Given the description of an element on the screen output the (x, y) to click on. 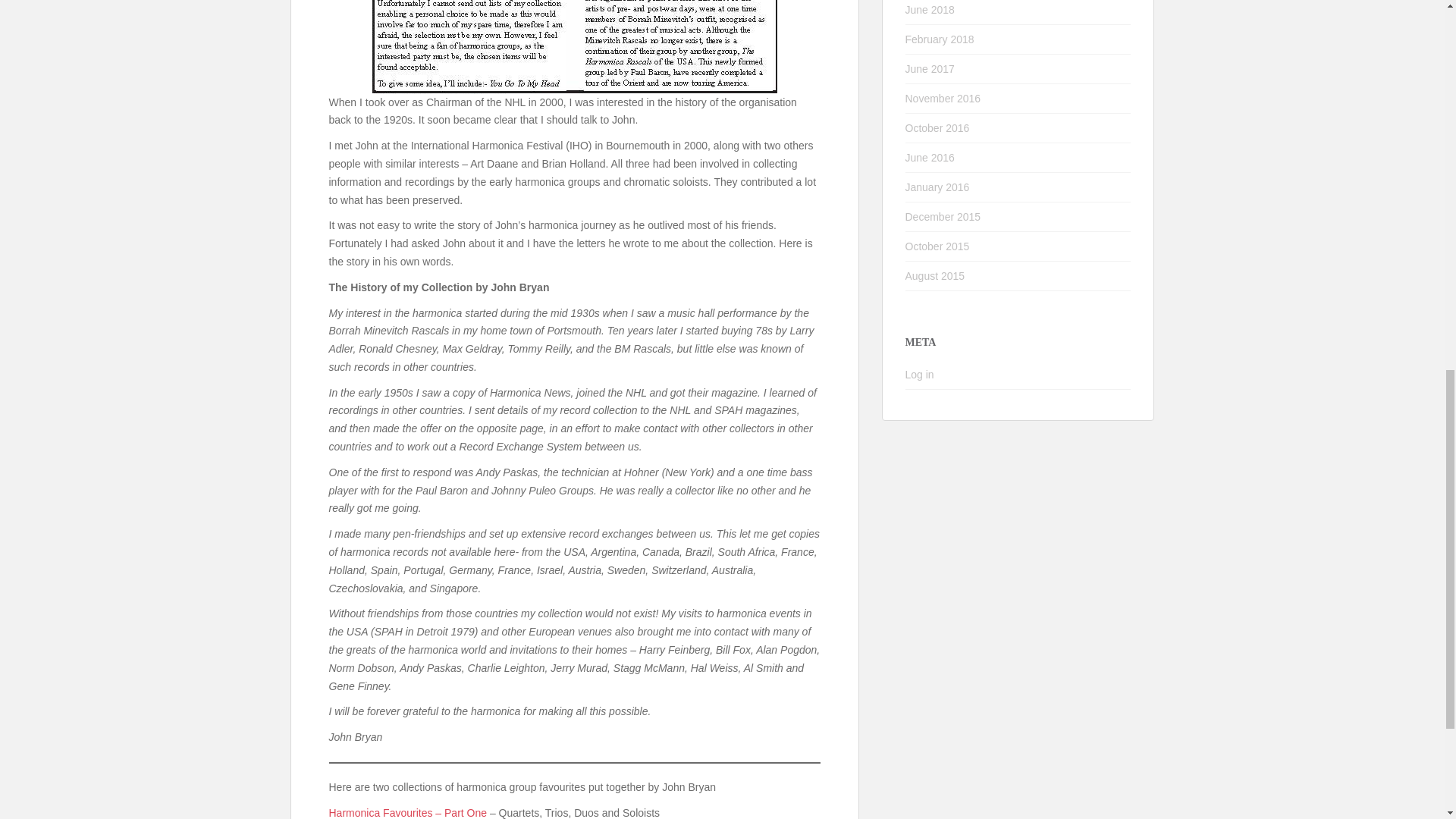
February 2018 (939, 39)
June 2018 (930, 9)
